Given the description of an element on the screen output the (x, y) to click on. 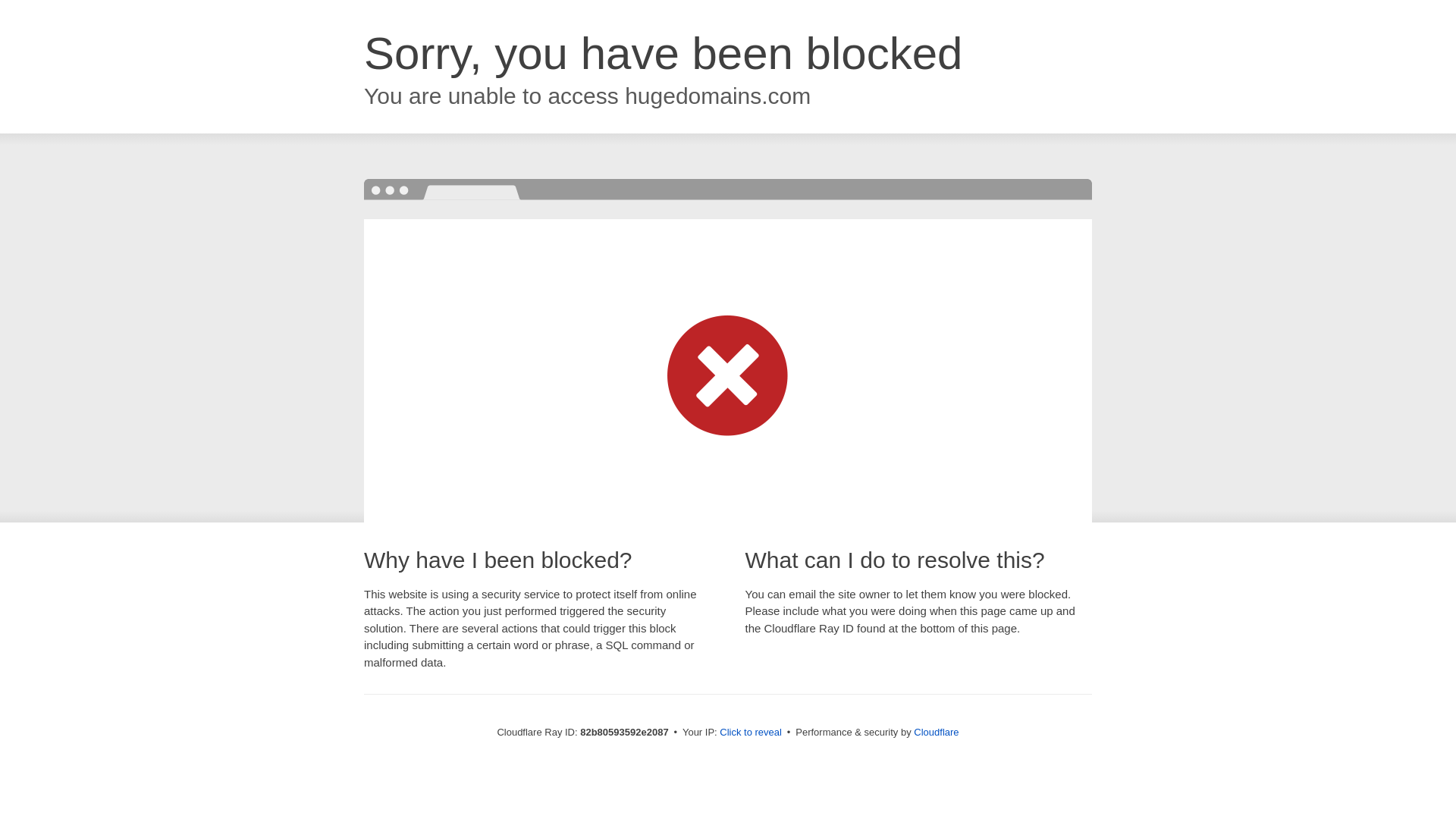
Click to reveal Element type: text (750, 732)
Cloudflare Element type: text (935, 731)
